Given the description of an element on the screen output the (x, y) to click on. 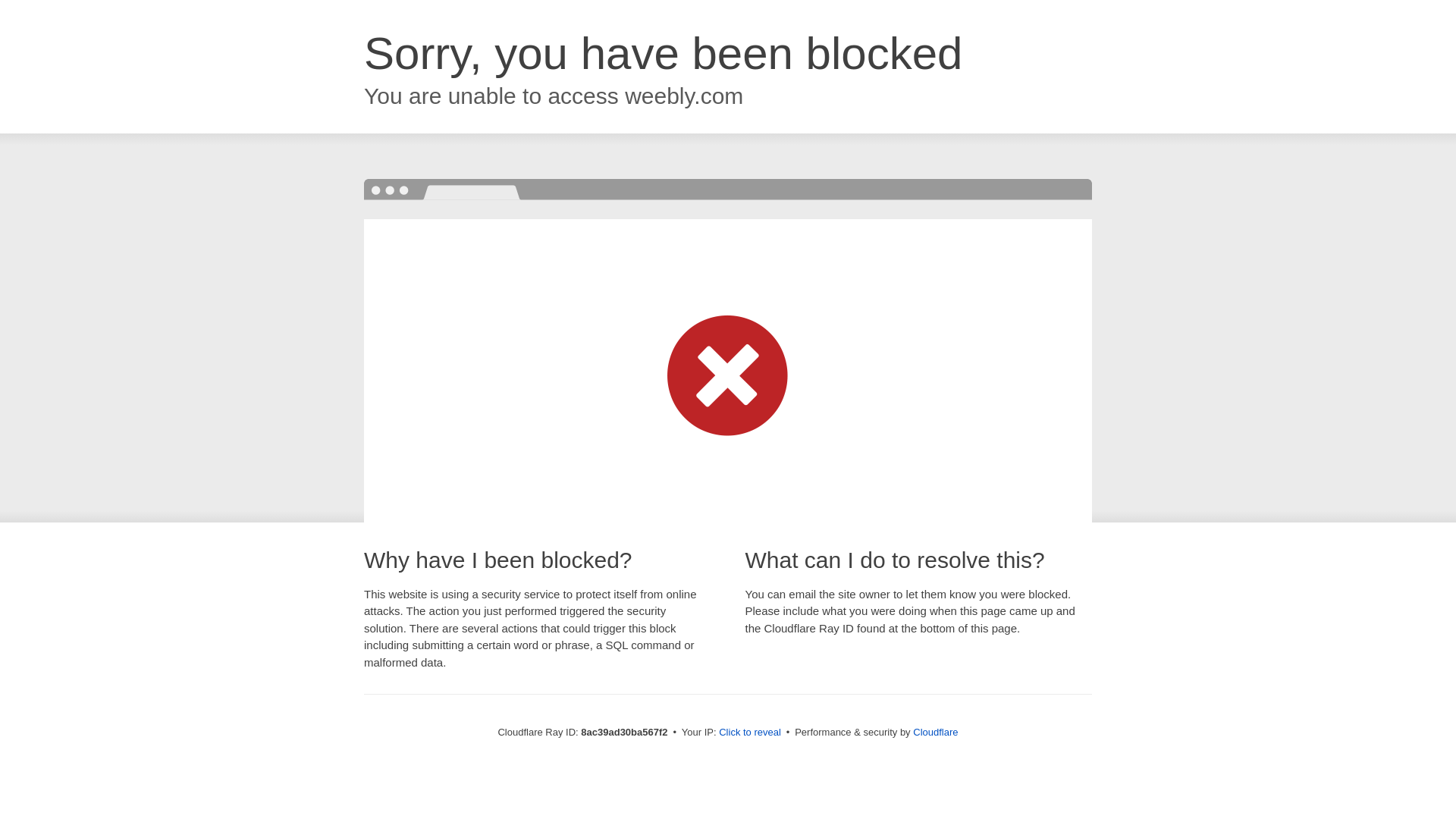
Cloudflare (935, 731)
Click to reveal (749, 732)
